Given the description of an element on the screen output the (x, y) to click on. 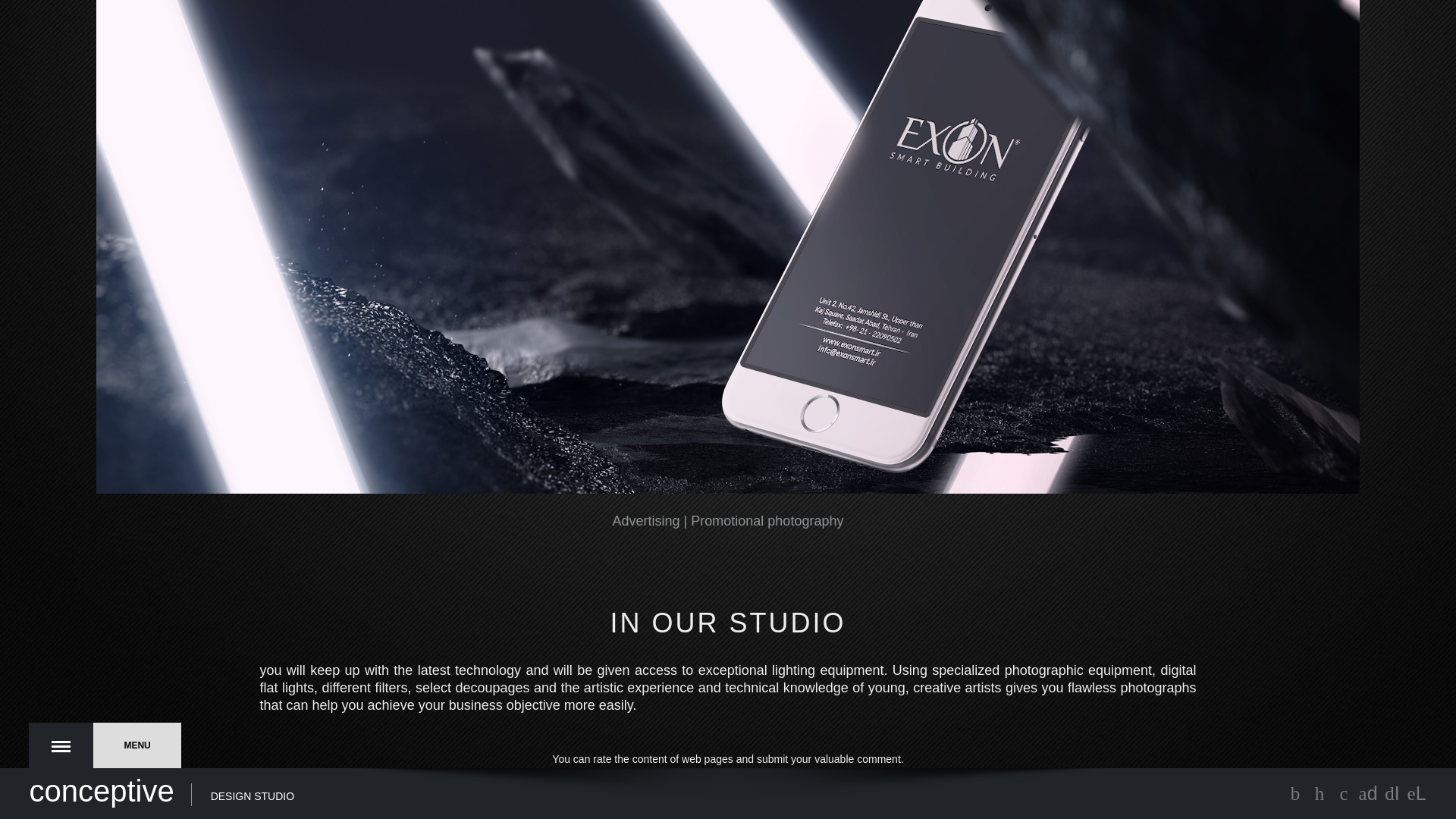
4 stars out of 5 (653, 773)
1 star out of 5 (624, 773)
4 (653, 773)
photography (805, 520)
3 stars out of 5 (643, 773)
Advertising (645, 520)
2 (634, 773)
2 stars out of 5 (634, 773)
1 (624, 773)
5 stars out of 5 (662, 773)
